Given the description of an element on the screen output the (x, y) to click on. 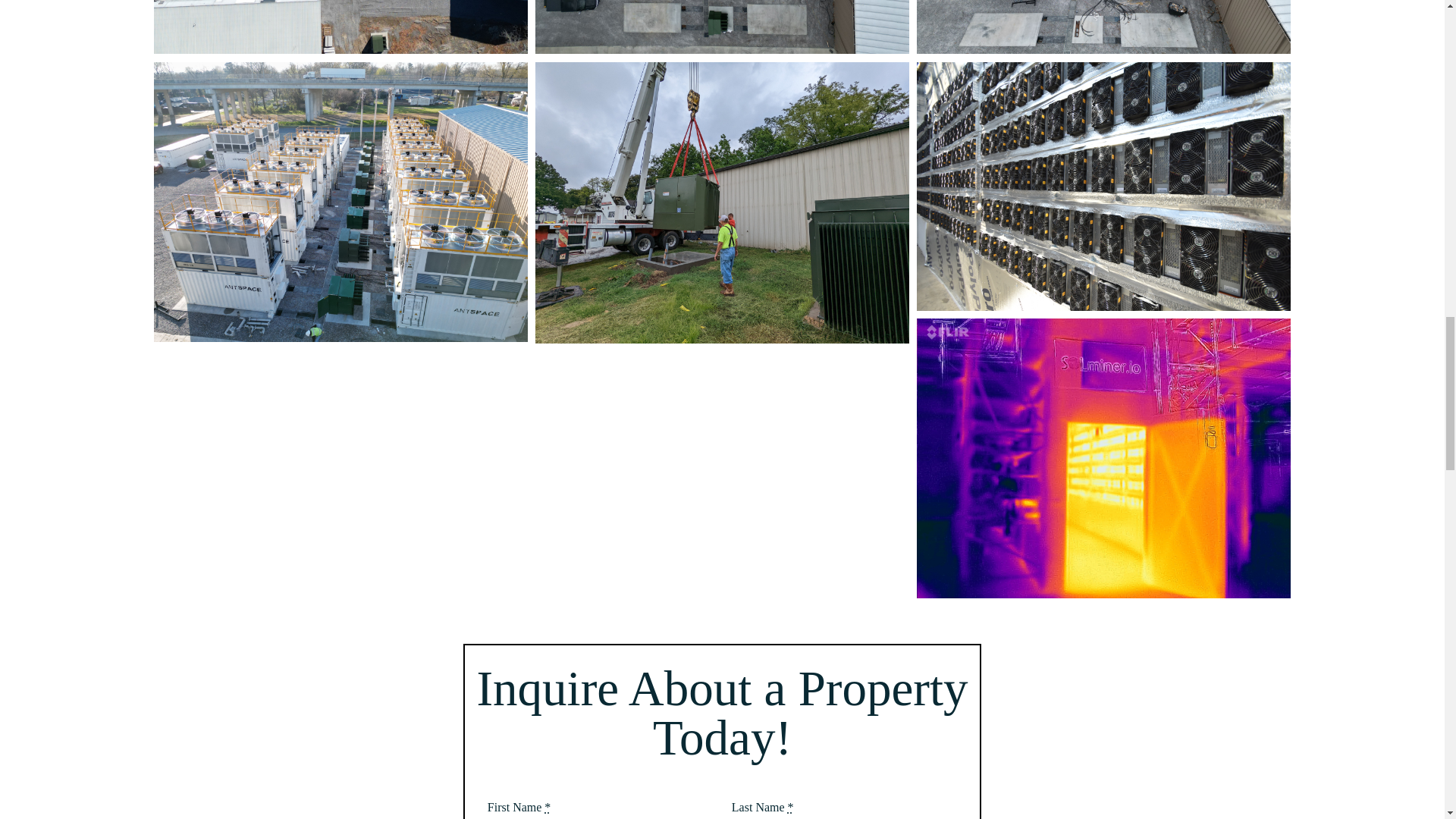
SOLminer Recent Cryptocurrency Mining Farms for Sale (1103, 27)
SOLminer Latest Cryptocurrency Mining Farms for Sale (340, 202)
Cryptocurrency Mining Farms for Sale (721, 202)
SOLminer Completed Cryptocurrency Mining Farms for Sale (721, 27)
SOLminer Thermal Images (1103, 458)
Cryptocurrency Mining Farms for Sale (1103, 186)
SOLminer Best Location Cryptocurrency Mining Farms for Sale (340, 27)
